Given the description of an element on the screen output the (x, y) to click on. 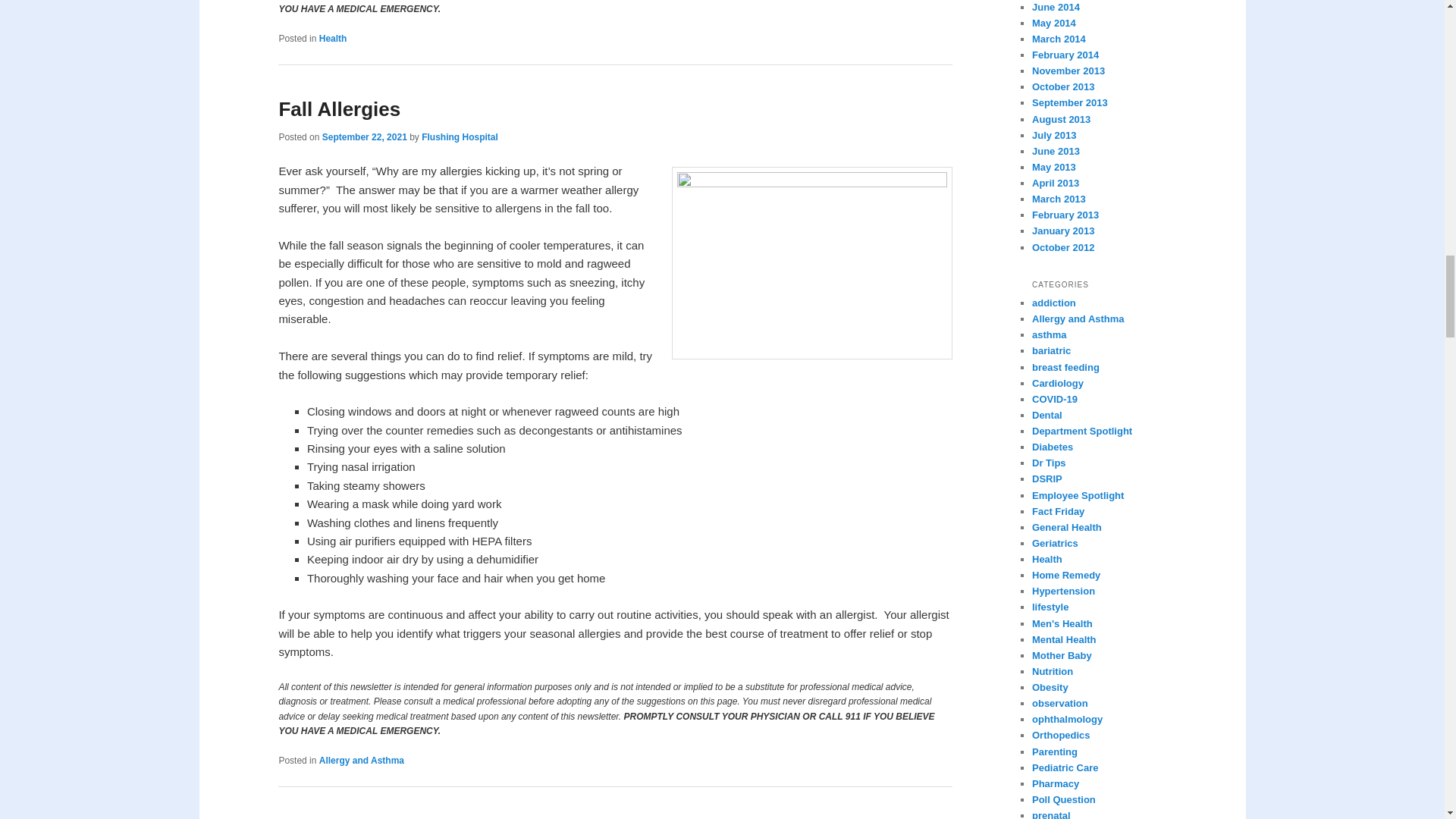
Flushing Hospital (459, 136)
September 22, 2021 (364, 136)
Health (332, 38)
Allergy and Asthma (361, 760)
Fall Allergies (339, 108)
8:42 pm (364, 136)
View all posts by Flushing Hospital (459, 136)
